Given the description of an element on the screen output the (x, y) to click on. 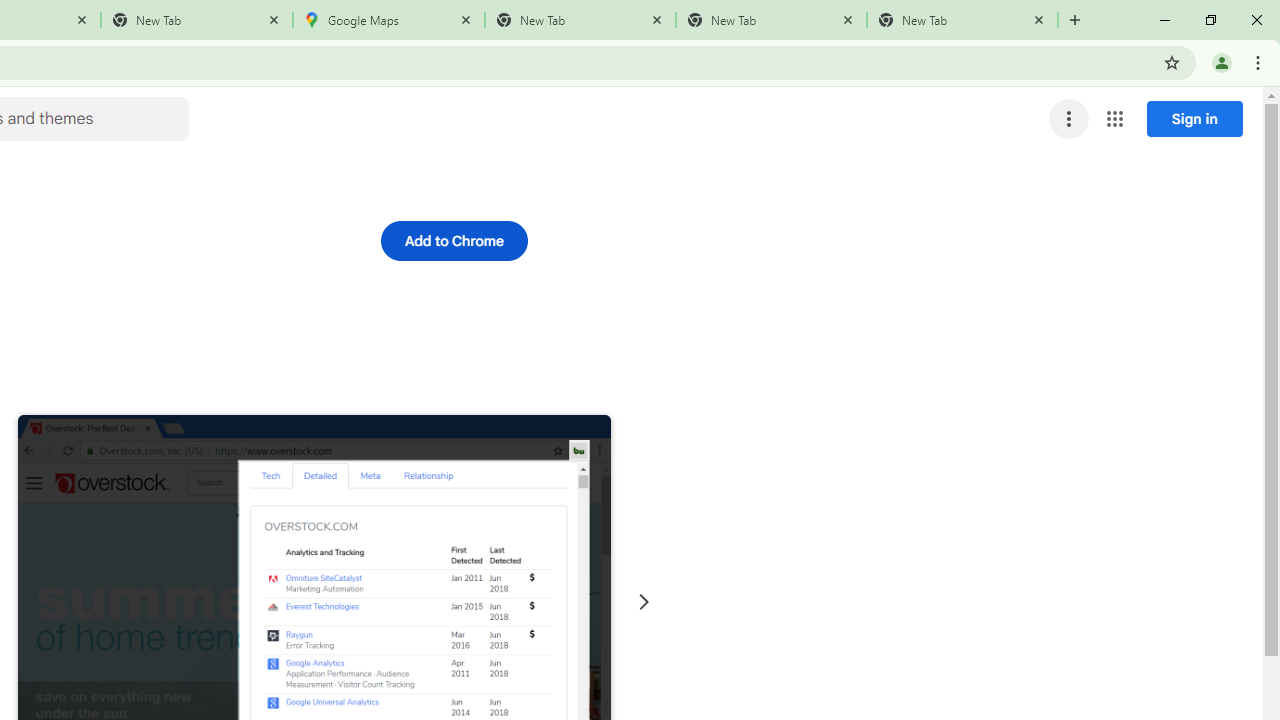
Next slide (643, 601)
Add to Chrome (453, 240)
New Tab (962, 20)
Google Maps (389, 20)
New Tab (580, 20)
More options menu (1069, 118)
New Tab (197, 20)
